Given the description of an element on the screen output the (x, y) to click on. 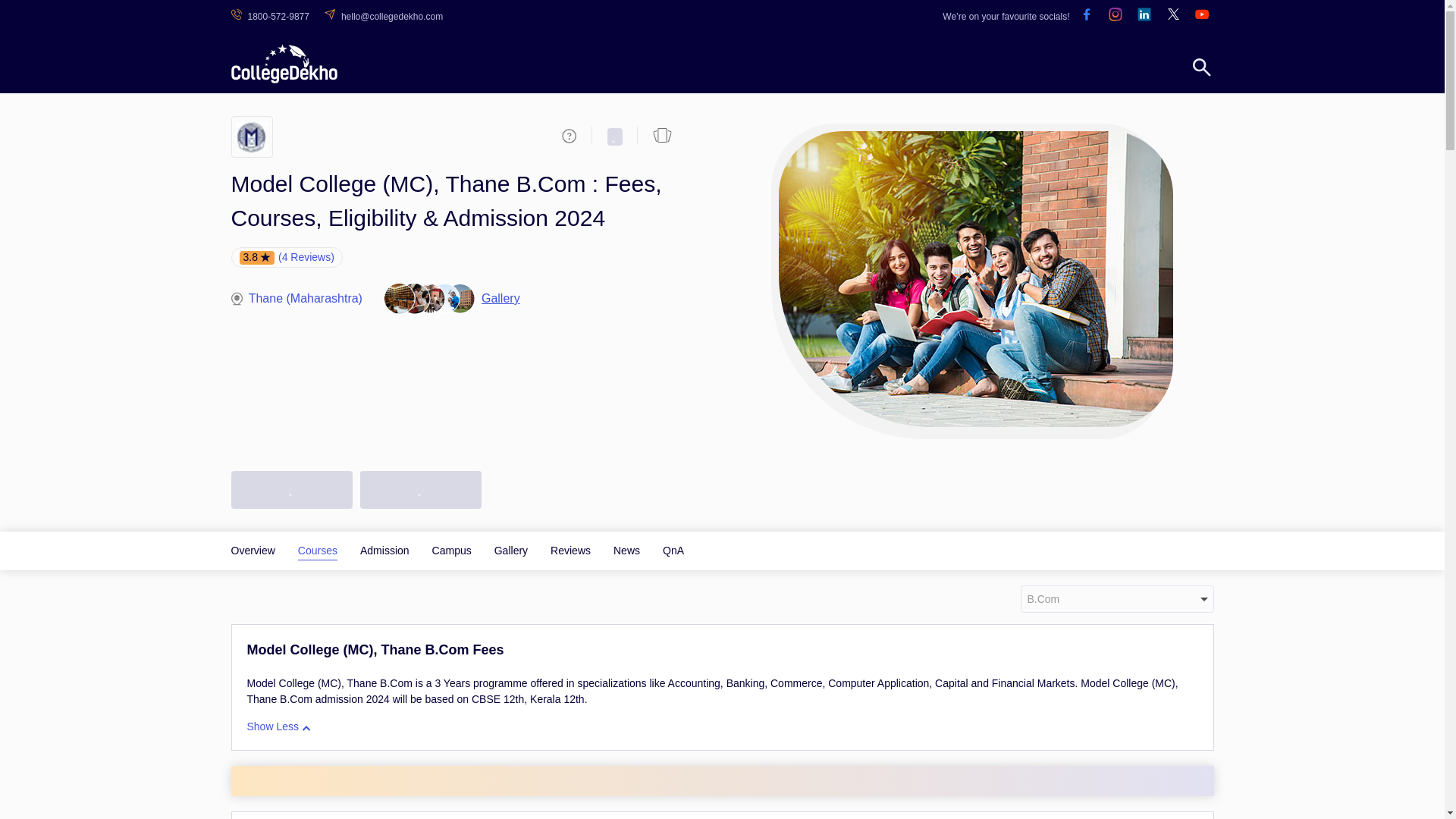
Model College, Thane Gallery (511, 550)
Model College, Thane News (626, 550)
1800-572-9877 (272, 16)
Model College, Thane Admission (384, 550)
QnA (673, 550)
Model College, Thane QnA (673, 550)
Reviews (570, 550)
Campus (451, 550)
Model College, Thane Overview (252, 550)
Gallery (511, 550)
